Given the description of an element on the screen output the (x, y) to click on. 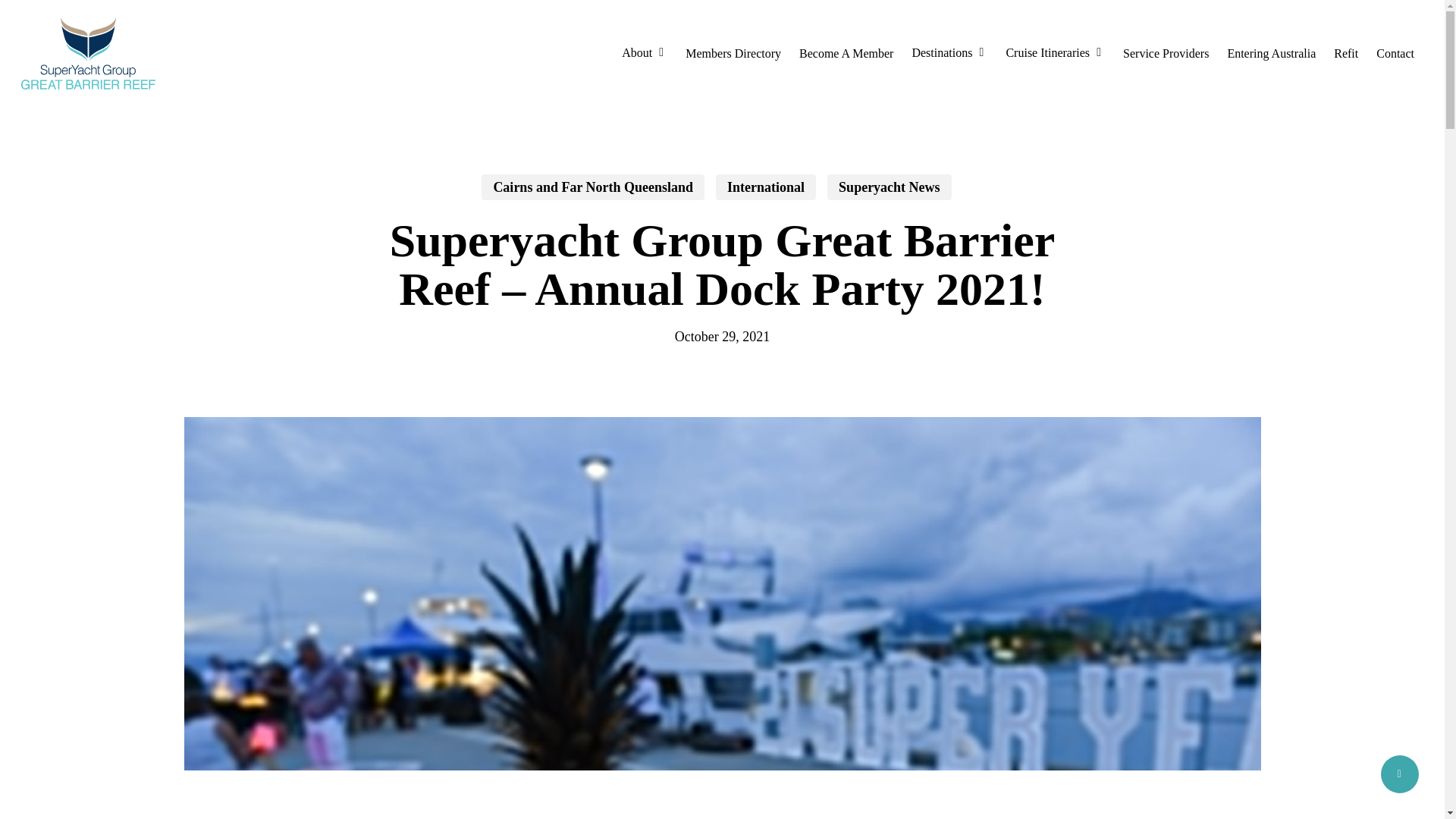
Cruise Itineraries (1054, 52)
About (644, 52)
Destinations (948, 52)
Contact (1395, 52)
Cairns and Far North Queensland (592, 186)
Refit (1345, 52)
Superyacht News (889, 186)
International (765, 186)
Entering Australia (1270, 52)
Become A Member (846, 52)
Service Providers (1165, 52)
Members Directory (733, 52)
